Given the description of an element on the screen output the (x, y) to click on. 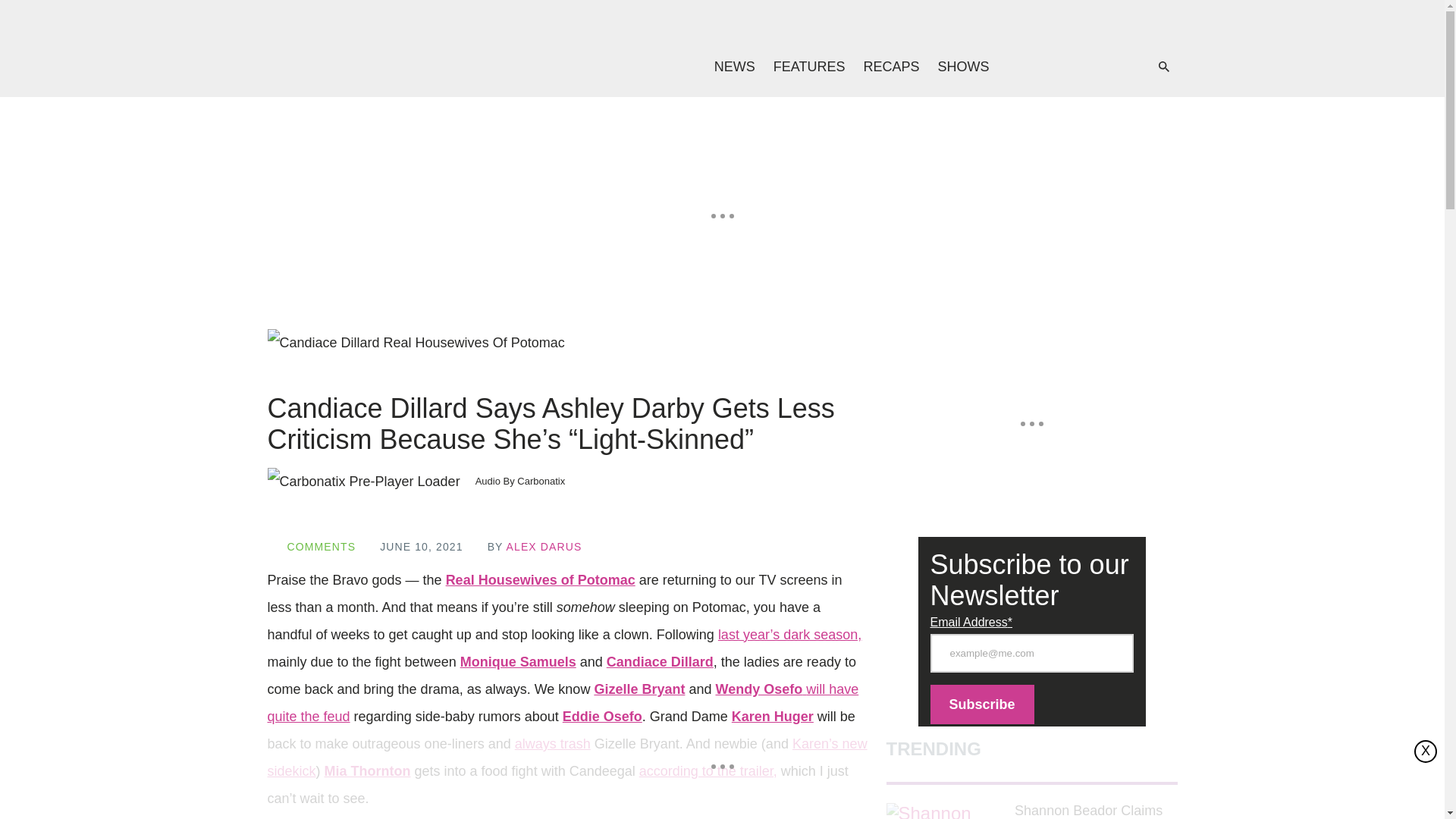
Candiace Dillard (660, 661)
Pinterest (1109, 66)
SHOWS (962, 66)
NEWS (734, 66)
Eddie Osefo (602, 716)
always trash (553, 743)
Mia Thornton (367, 770)
Twitter (1079, 66)
Wendy Osefo (760, 688)
Facebook (1048, 66)
